Given the description of an element on the screen output the (x, y) to click on. 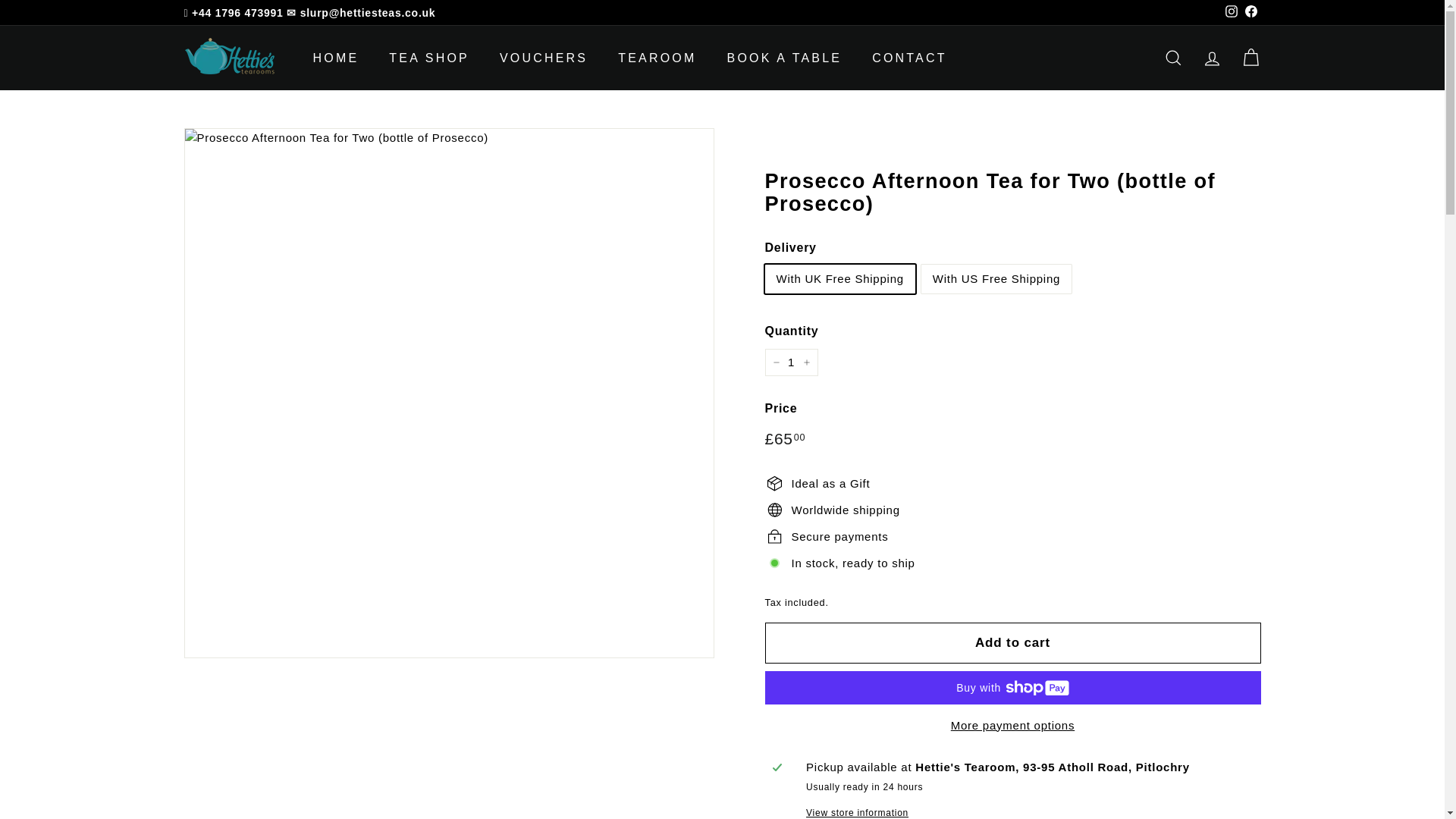
TEA SHOP (429, 58)
1 (790, 361)
HOME (335, 58)
